Given the description of an element on the screen output the (x, y) to click on. 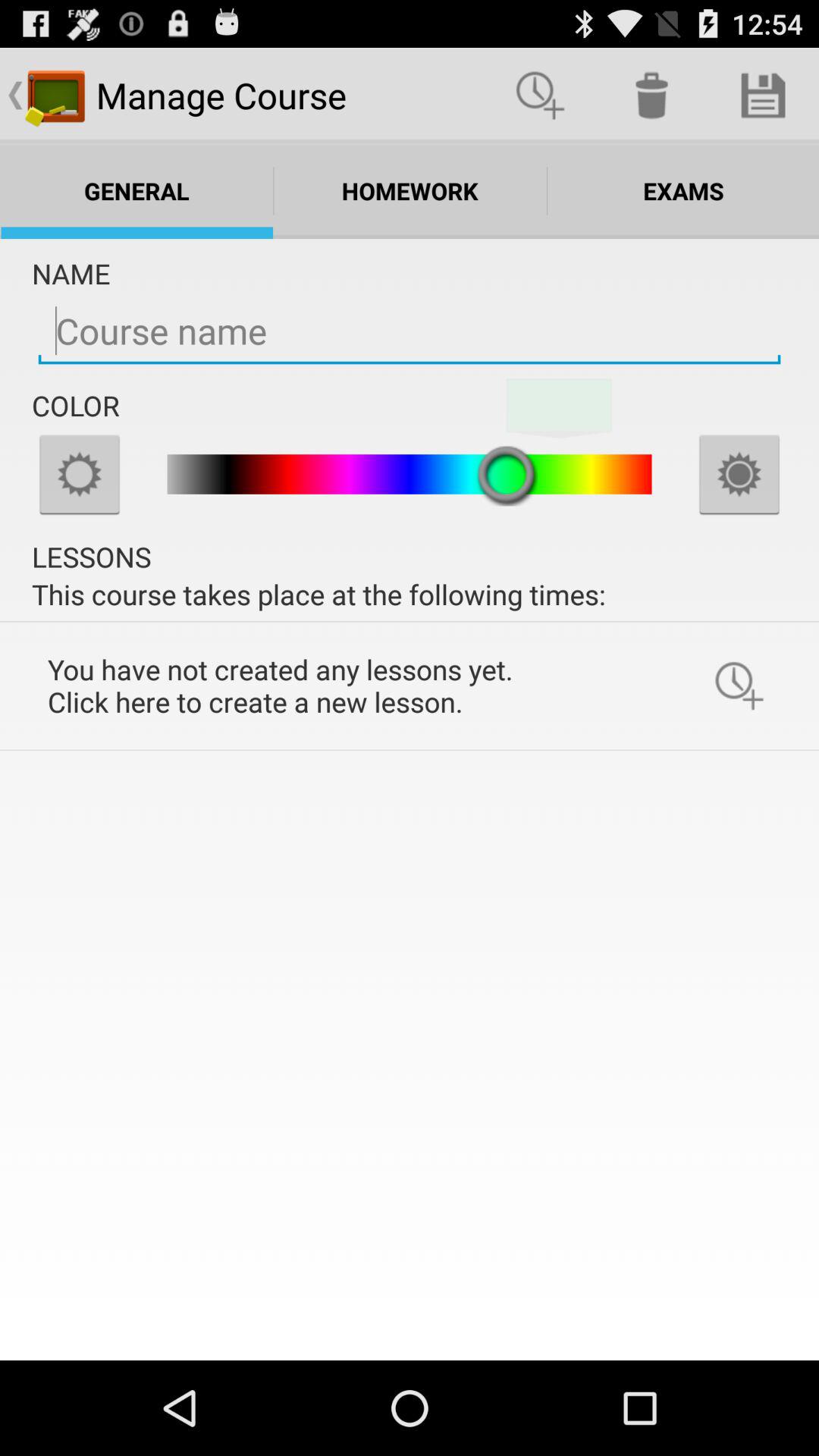
enter the course name (409, 331)
